Given the description of an element on the screen output the (x, y) to click on. 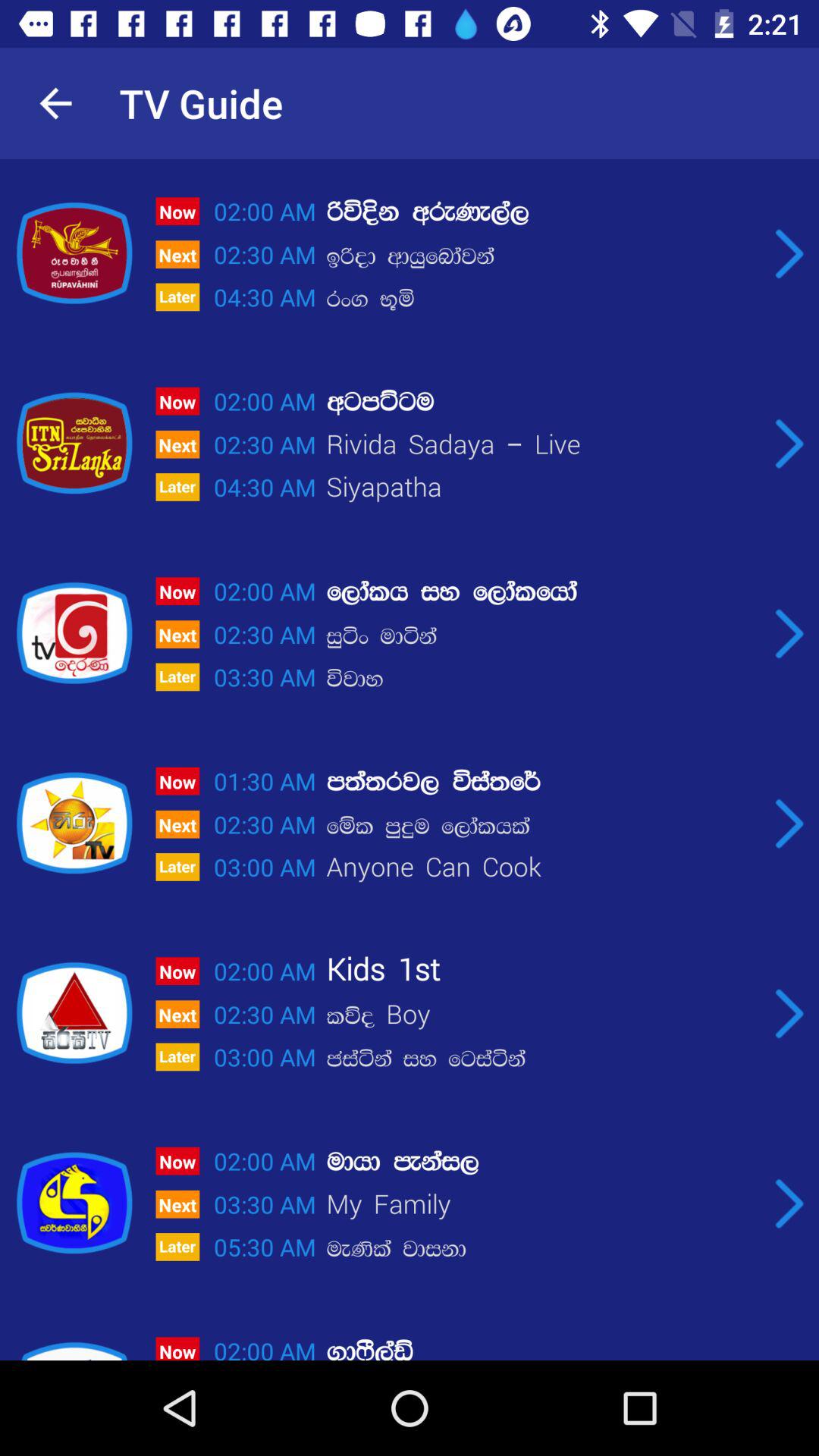
press the item to the right of 02:30 am item (542, 488)
